Given the description of an element on the screen output the (x, y) to click on. 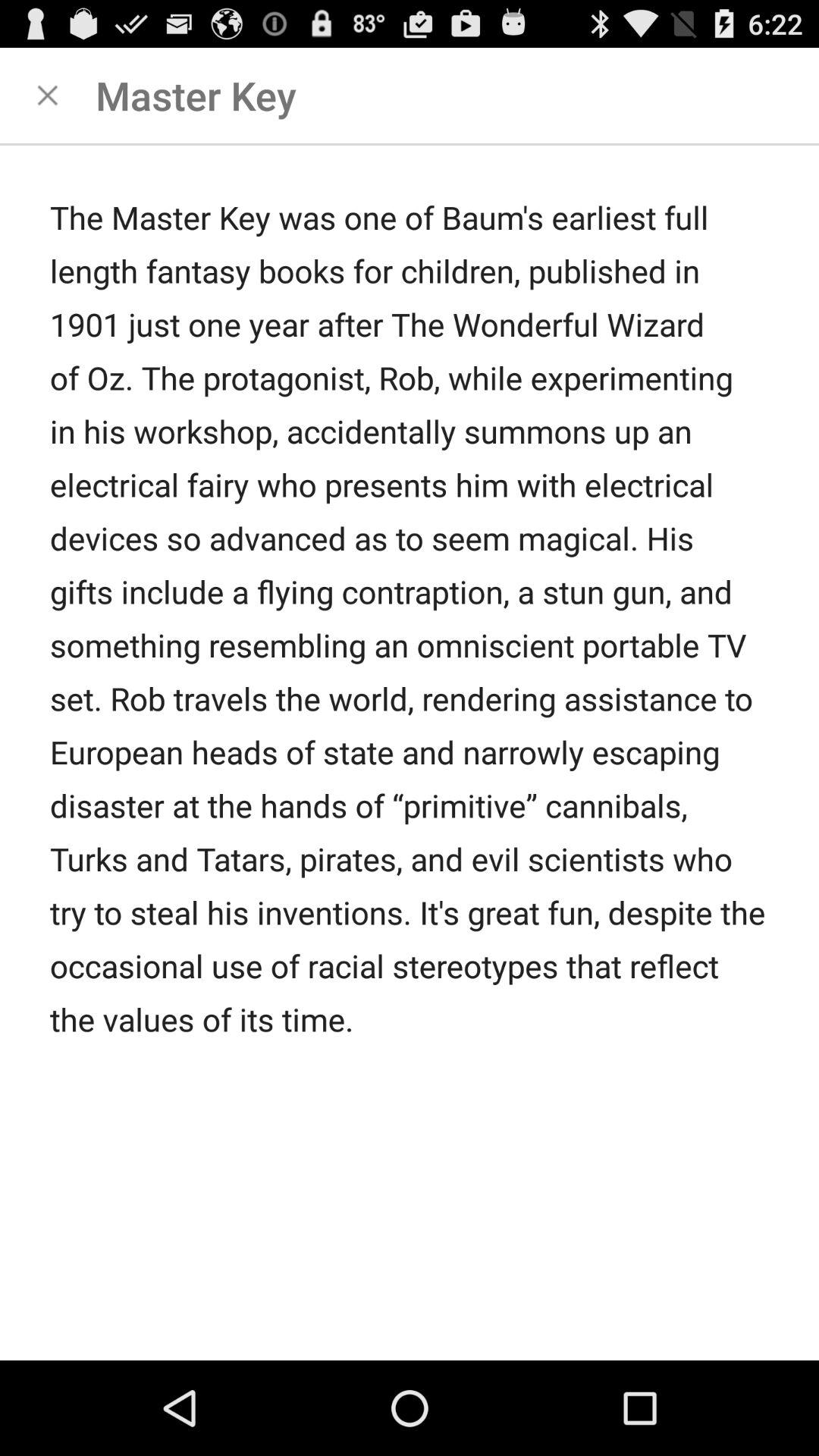
clsoe this page (47, 95)
